Given the description of an element on the screen output the (x, y) to click on. 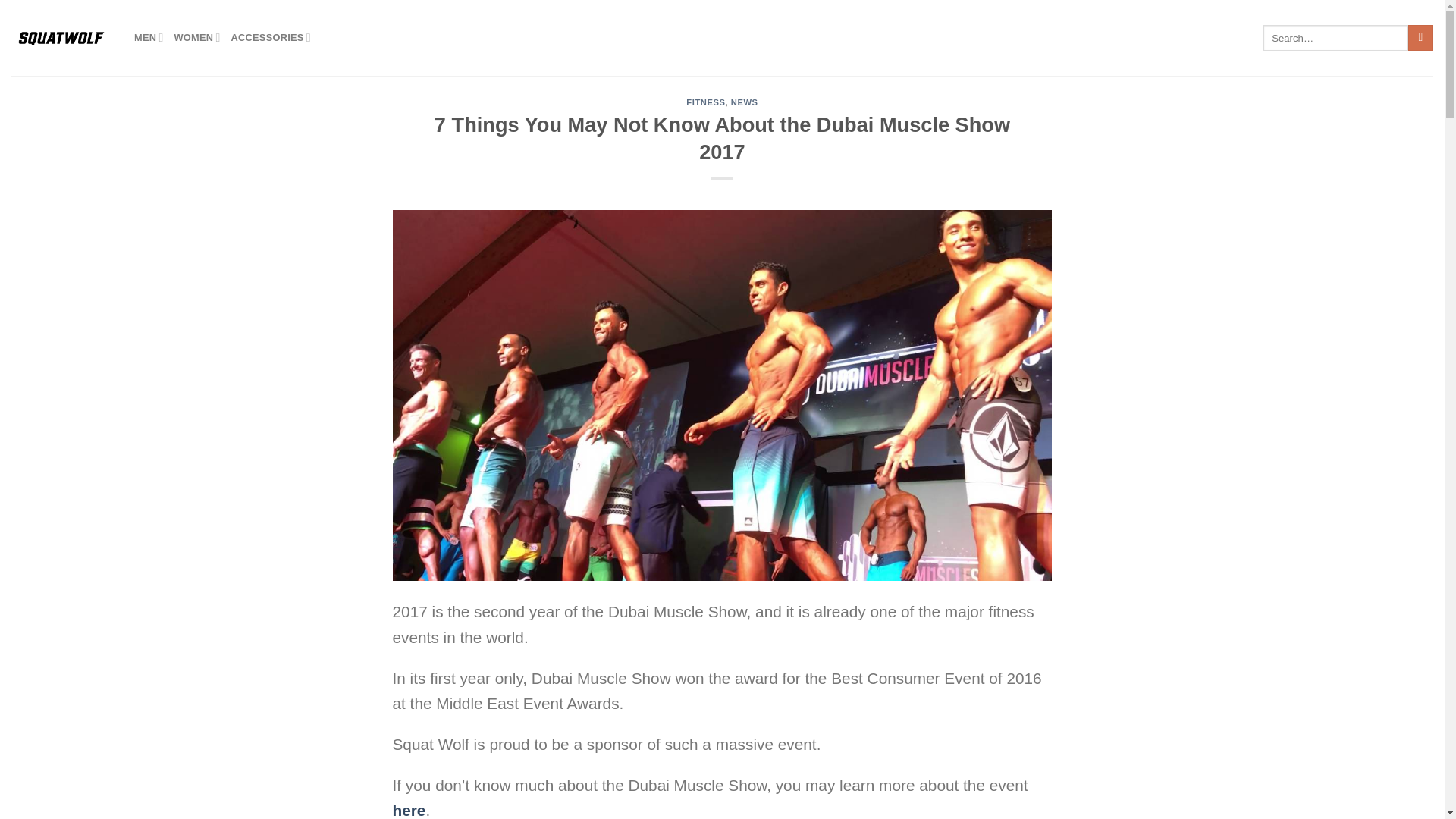
WOMEN (197, 37)
MEN (148, 37)
